Given the description of an element on the screen output the (x, y) to click on. 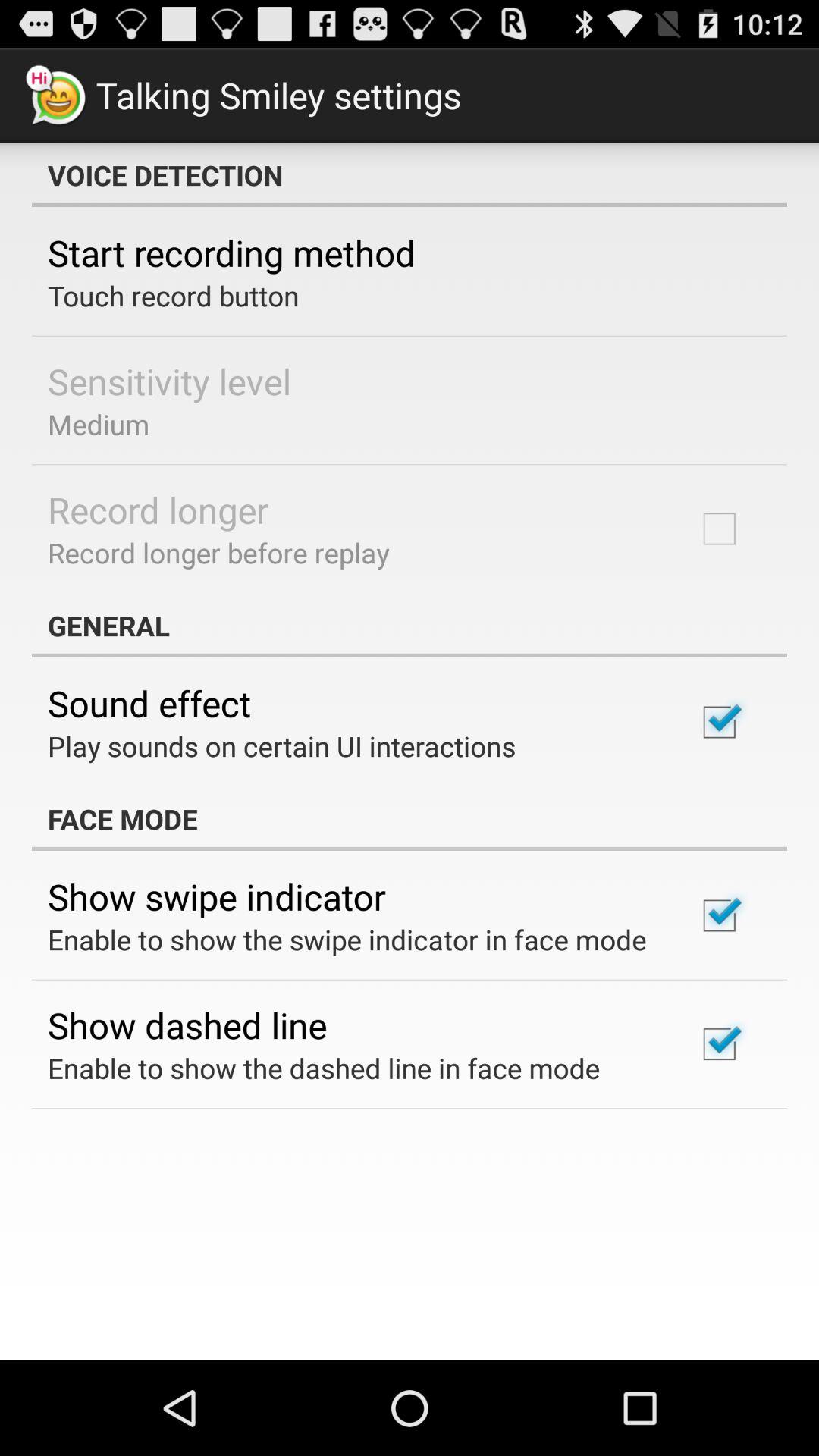
press the item below the sound effect (281, 745)
